Given the description of an element on the screen output the (x, y) to click on. 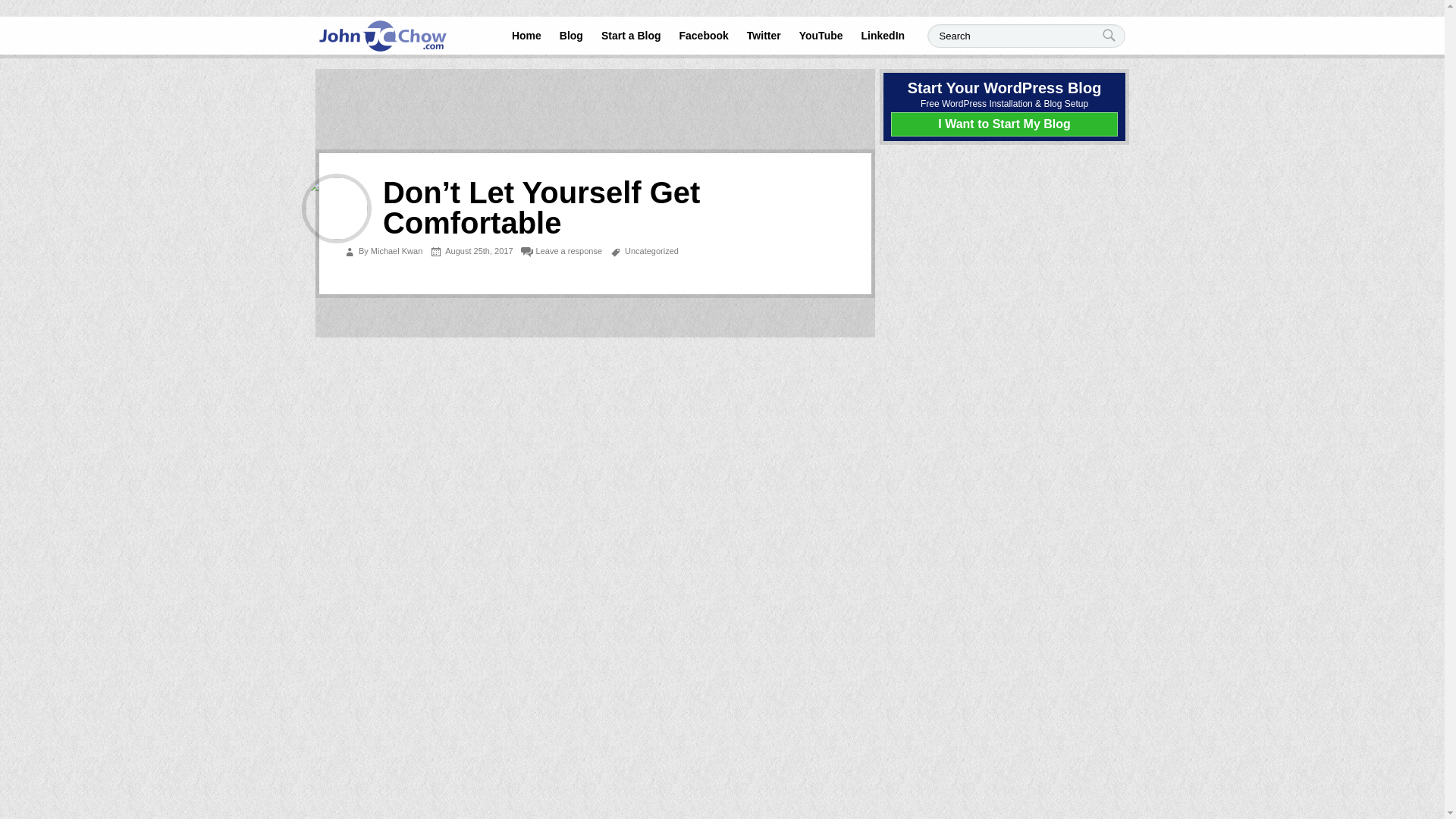
Leave a response (568, 250)
John Chow dot Com (382, 35)
Home (526, 35)
Advertisement (594, 178)
YouTube (820, 35)
Twitter (764, 35)
Facebook (703, 35)
Start a Blog (630, 35)
LinkedIn (882, 35)
I Want to Start My Blog (1004, 124)
